Given the description of an element on the screen output the (x, y) to click on. 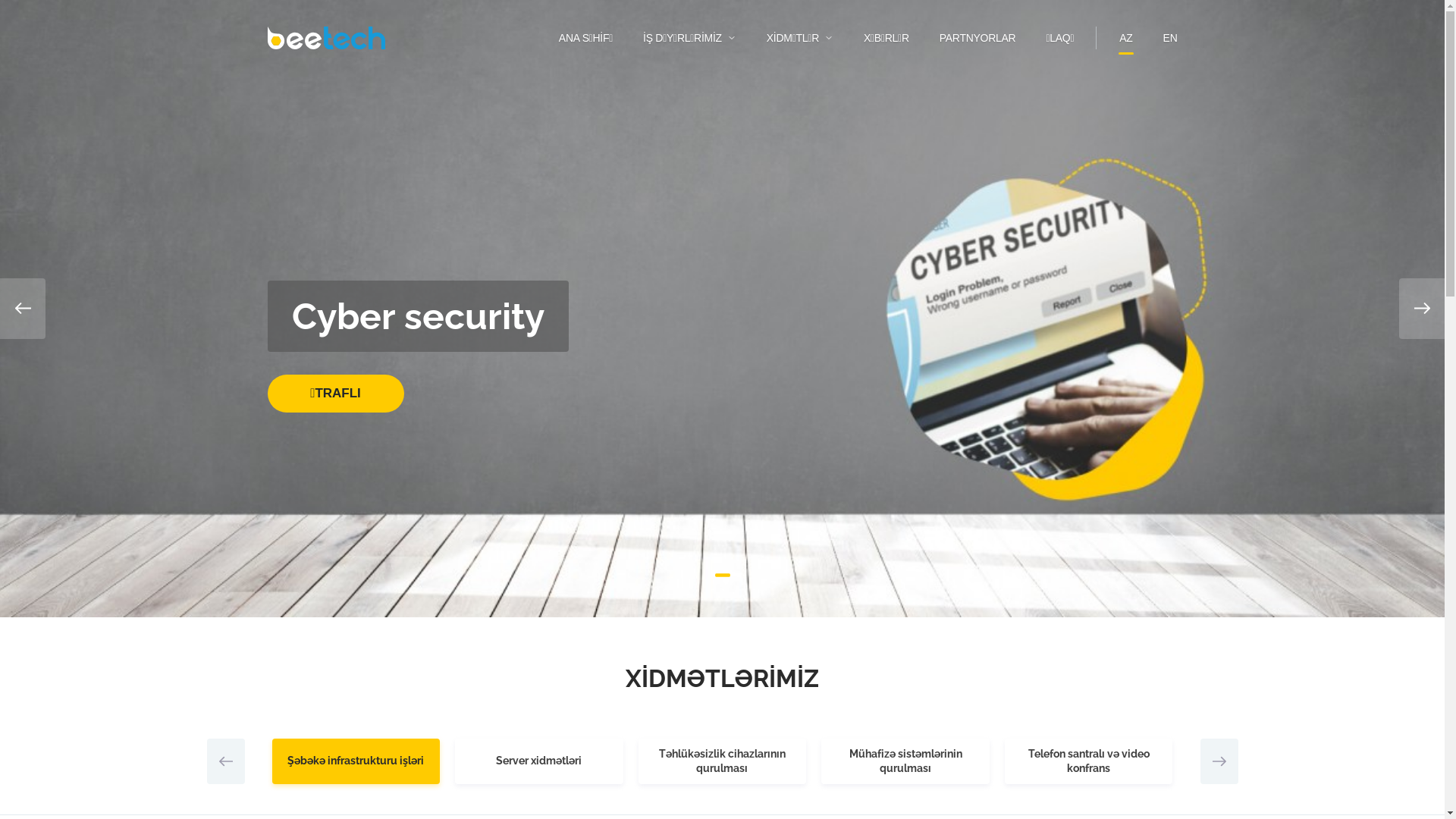
AZ Element type: text (1125, 38)
PARTNYORLAR Element type: text (977, 38)
BeeTech LLC Element type: hover (325, 37)
EN Element type: text (1170, 38)
